Given the description of an element on the screen output the (x, y) to click on. 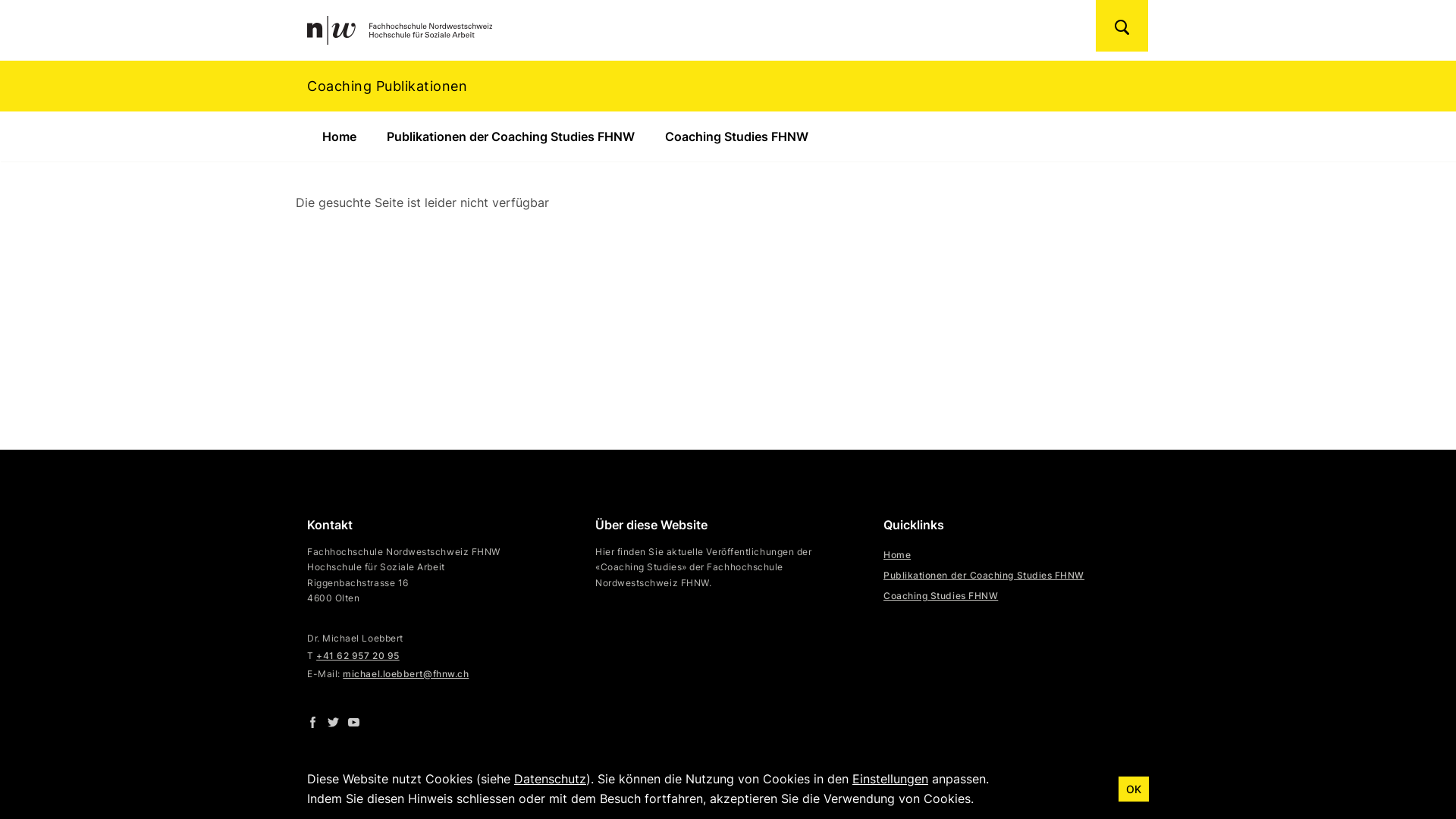
Einstellungen Element type: text (890, 778)
folgen Sie uns auf YouTube Element type: hover (353, 721)
folgen Sie uns auf Facebook Element type: hover (312, 721)
Impressum Element type: text (728, 786)
michael.loebbert@fhnw.ch Element type: text (405, 672)
www.fhnw.ch Element type: text (638, 786)
Datenschutz Element type: text (550, 778)
Publikationen der Coaching Studies FHNW Element type: text (510, 136)
OK Element type: text (1133, 788)
Home Element type: text (896, 554)
Publikationen der Coaching Studies FHNW Element type: text (983, 574)
Suchen Element type: text (1121, 25)
folgen Sie uns auf Twitter Element type: hover (332, 721)
Datenschutz Element type: text (818, 786)
Coaching Studies FHNW Element type: text (940, 595)
+41 62 957 20 95 Element type: text (357, 654)
Home Element type: text (339, 136)
Coaching Studies FHNW Element type: text (736, 136)
